Given the description of an element on the screen output the (x, y) to click on. 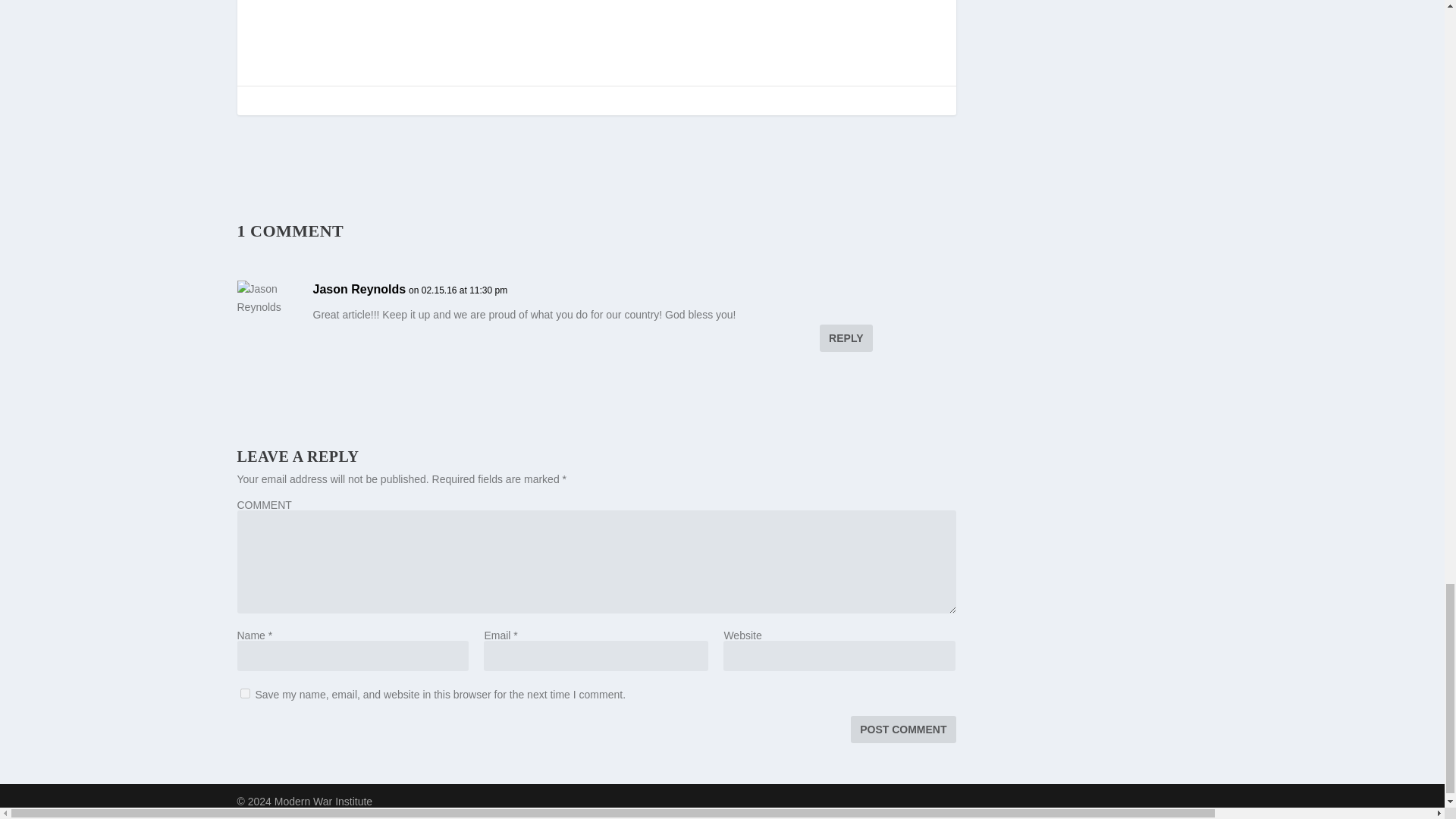
Share on LinkedIn (380, 2)
Share on Twitter (341, 2)
Share on Facebook (301, 2)
Post Comment (902, 728)
Share it on Email (419, 2)
yes (244, 693)
Print (459, 2)
